Given the description of an element on the screen output the (x, y) to click on. 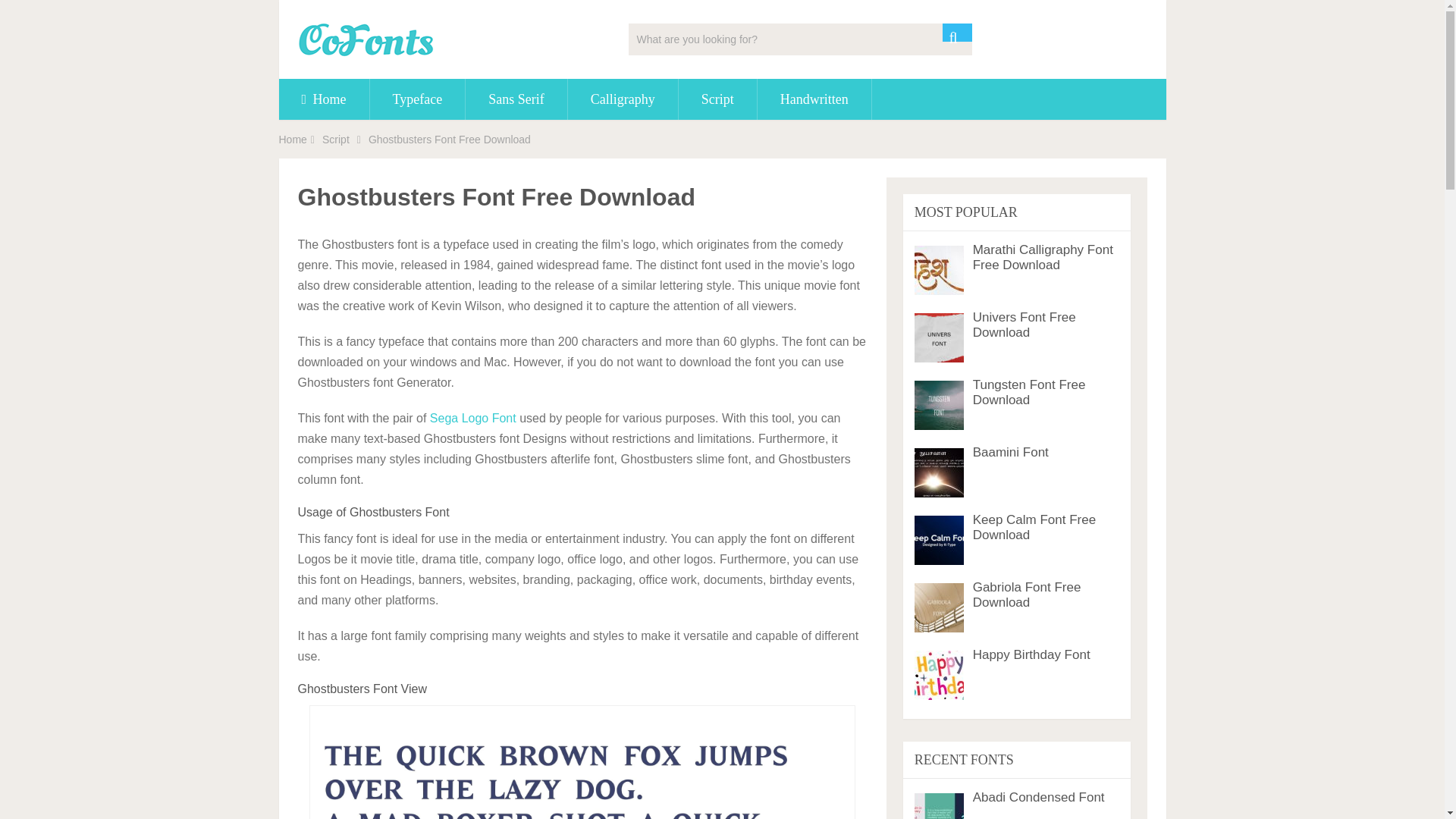
Sans Serif (516, 98)
Typeface (417, 98)
Script (335, 139)
Script (717, 98)
Home (324, 98)
Home (293, 139)
Sega Logo Font (472, 418)
Handwritten (813, 98)
Calligraphy (622, 98)
